Given the description of an element on the screen output the (x, y) to click on. 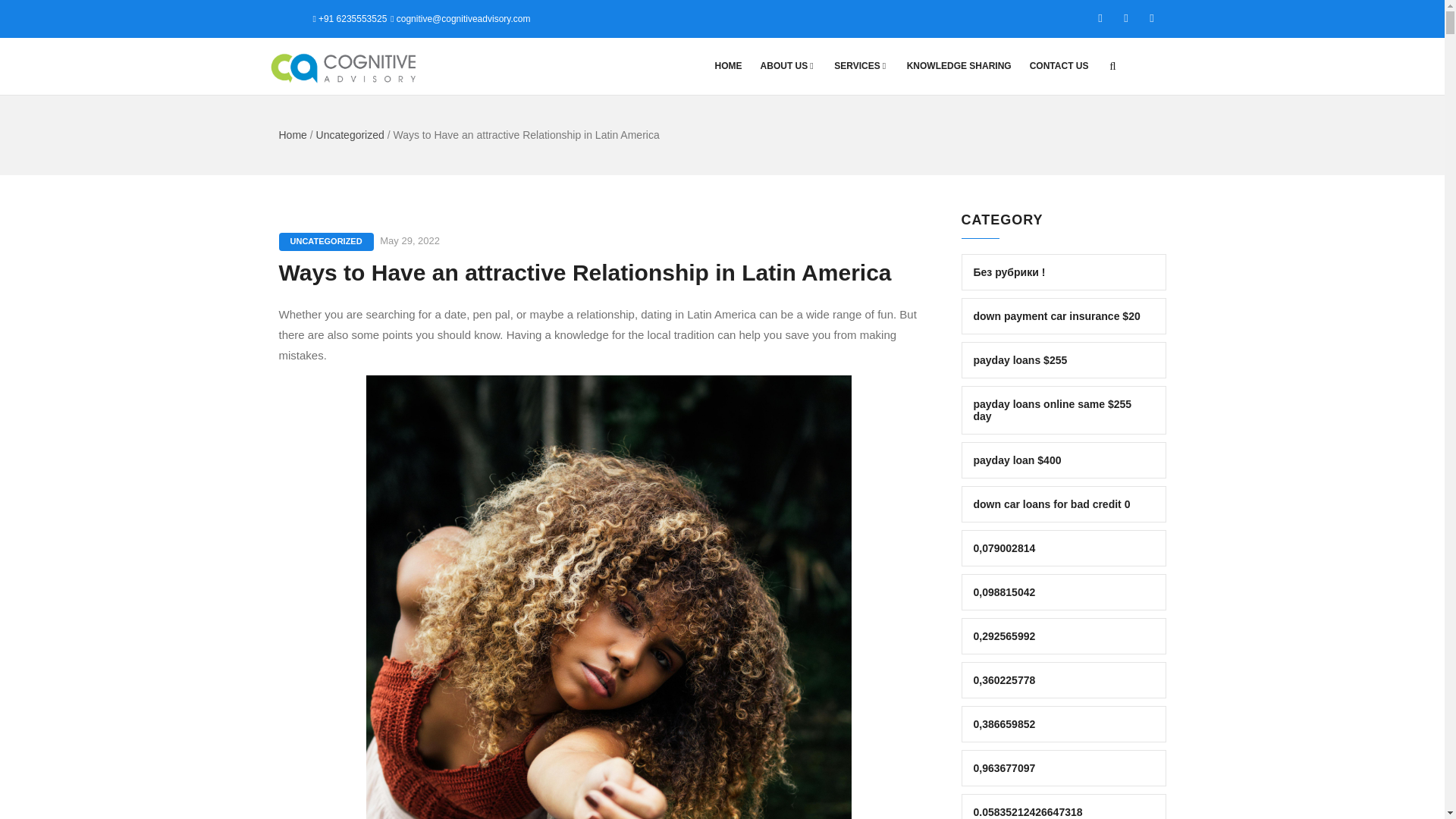
CONTACT US (1058, 66)
KNOWLEDGE SHARING (959, 66)
UNCATEGORIZED (326, 241)
SERVICES (860, 66)
Home (293, 134)
May 29, 2022 (409, 240)
ABOUT US (788, 66)
Uncategorized (349, 134)
